Given the description of an element on the screen output the (x, y) to click on. 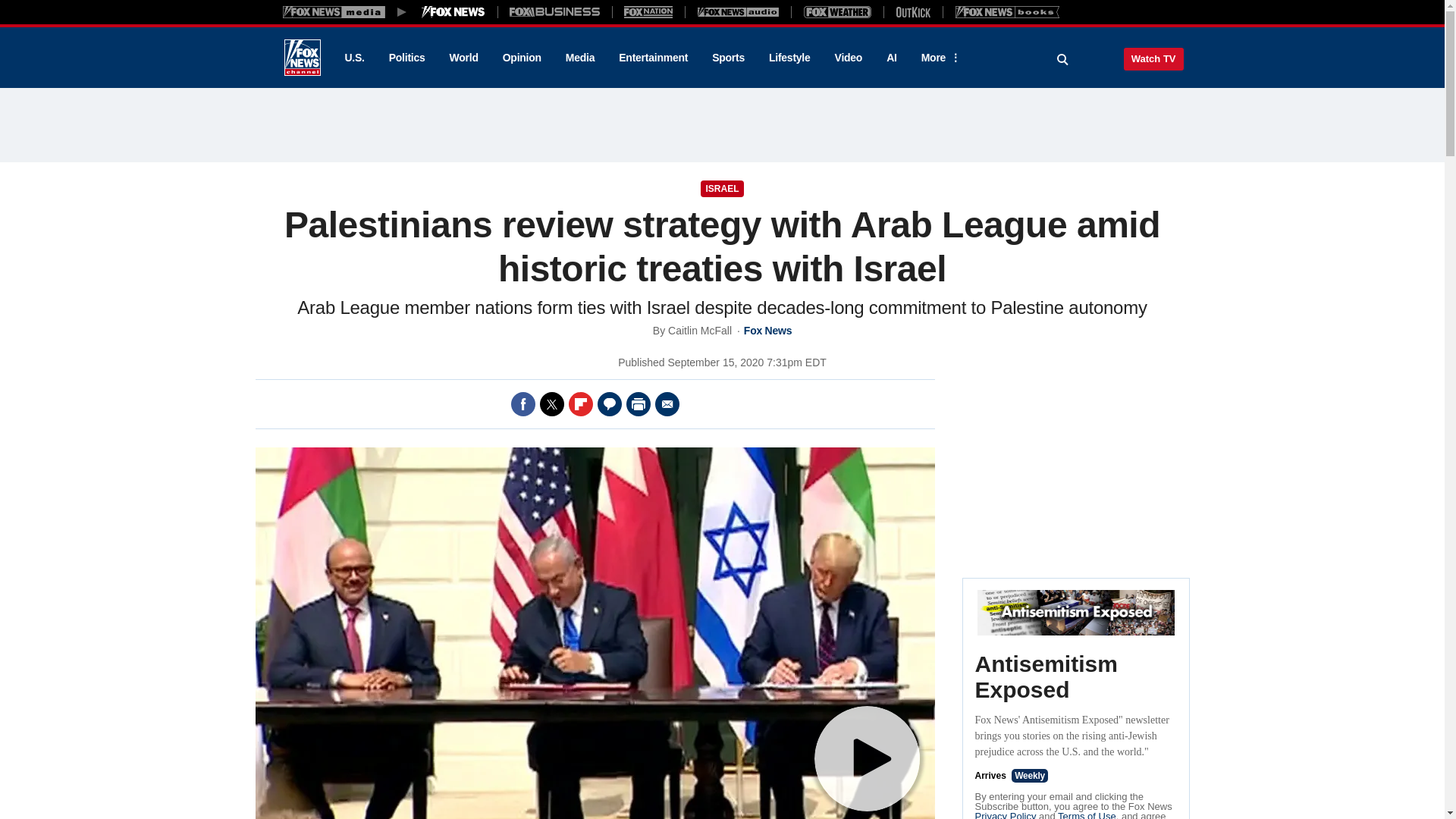
Watch TV (1153, 58)
Fox Weather (836, 11)
Video (848, 57)
Fox Nation (648, 11)
World (464, 57)
Books (1007, 11)
Fox News Audio (737, 11)
Lifestyle (789, 57)
More (938, 57)
Opinion (521, 57)
